Given the description of an element on the screen output the (x, y) to click on. 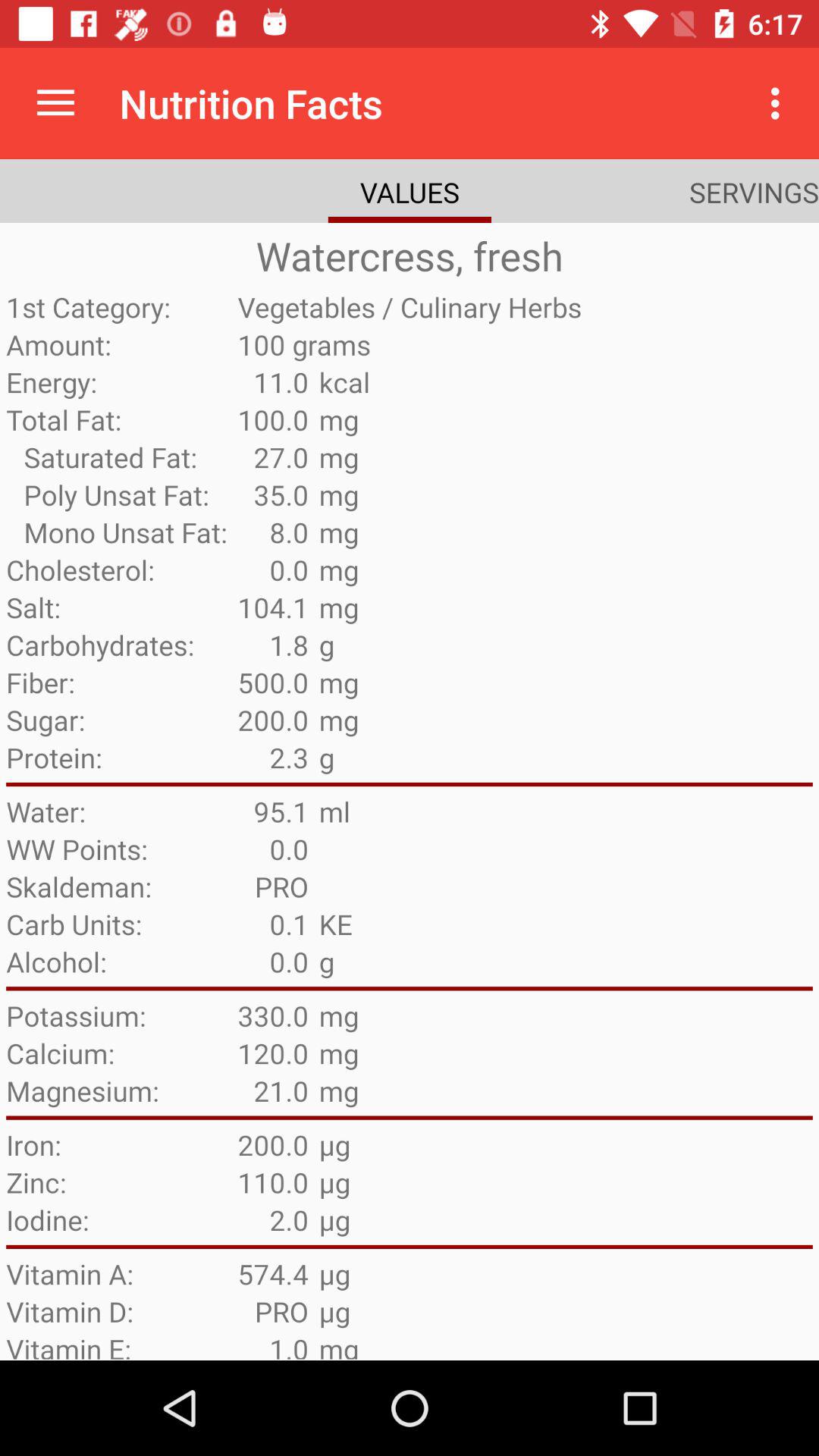
jump until the servings item (754, 192)
